Given the description of an element on the screen output the (x, y) to click on. 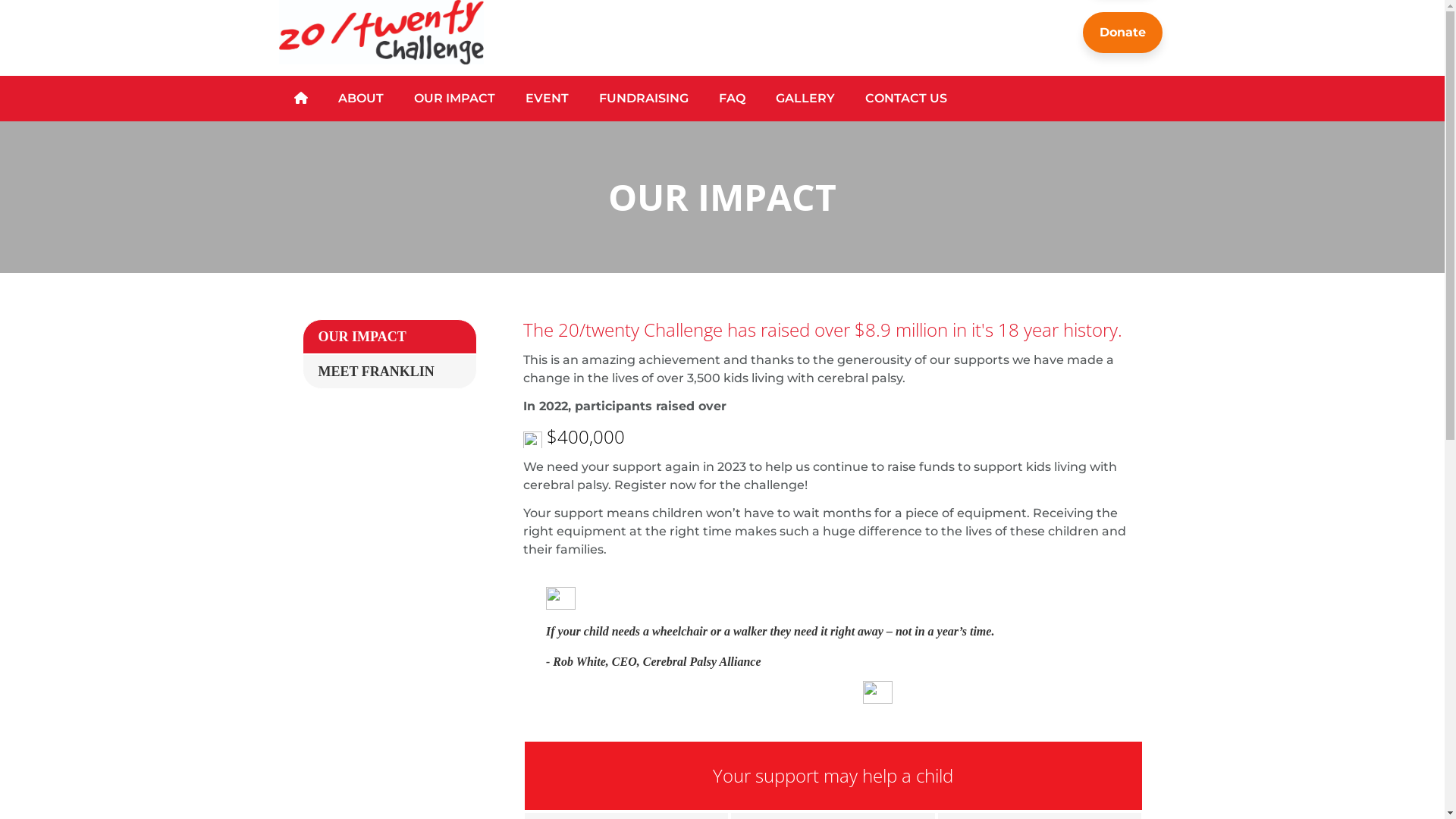
EVENT Element type: text (546, 98)
CONTACT US Element type: text (905, 98)
MEET FRANKLIN Element type: text (388, 371)
FAQ Element type: text (731, 98)
OUR IMPACT Element type: text (454, 98)
FUNDRAISING Element type: text (643, 98)
ABOUT Element type: text (360, 98)
GALLERY Element type: text (804, 98)
OUR IMPACT Element type: text (388, 336)
Donate Element type: text (1122, 32)
